Given the description of an element on the screen output the (x, y) to click on. 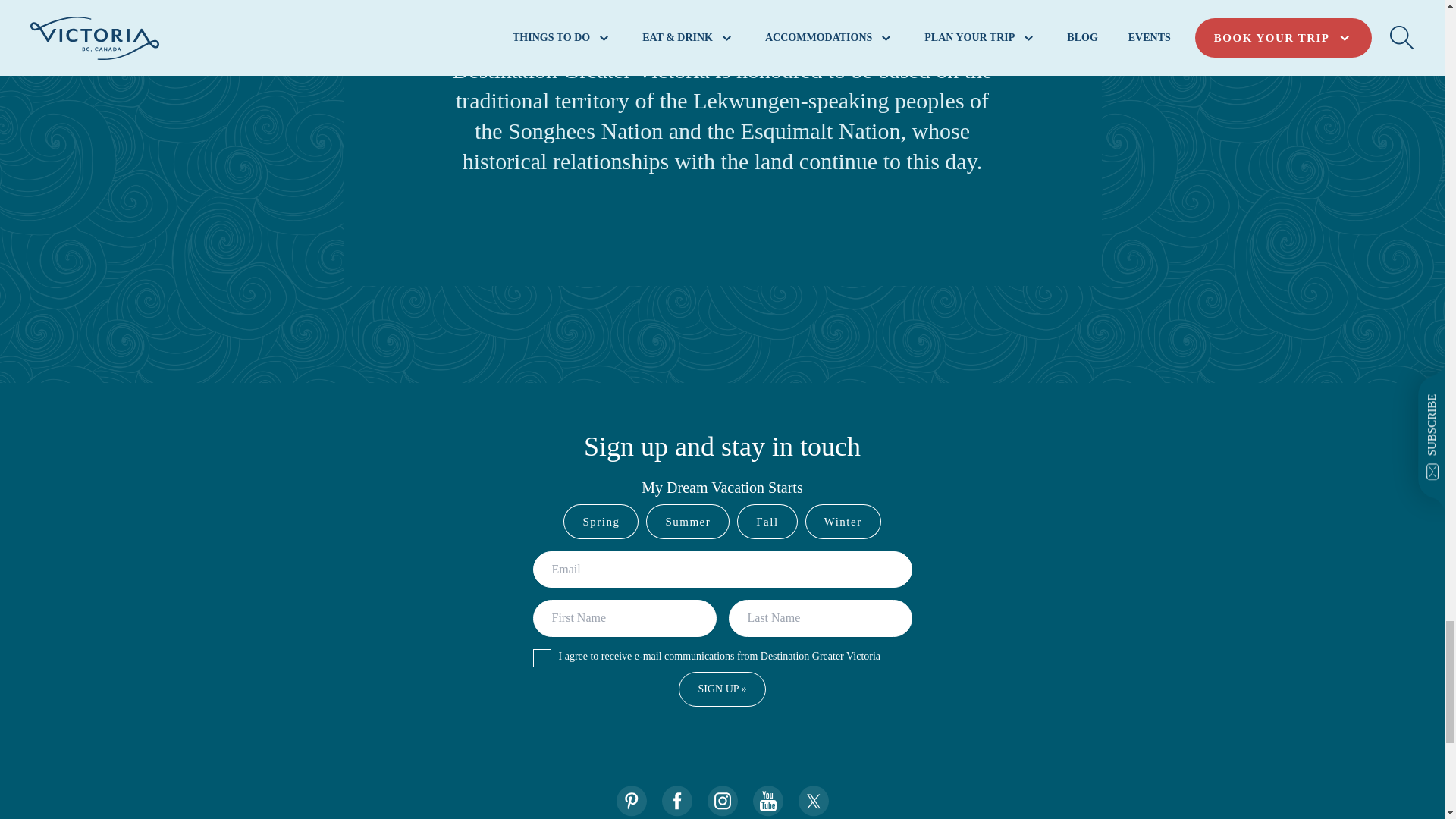
Pinterest (630, 800)
Facebook (676, 800)
Instagram (721, 800)
true (541, 658)
X (812, 800)
YouTube (767, 800)
